Given the description of an element on the screen output the (x, y) to click on. 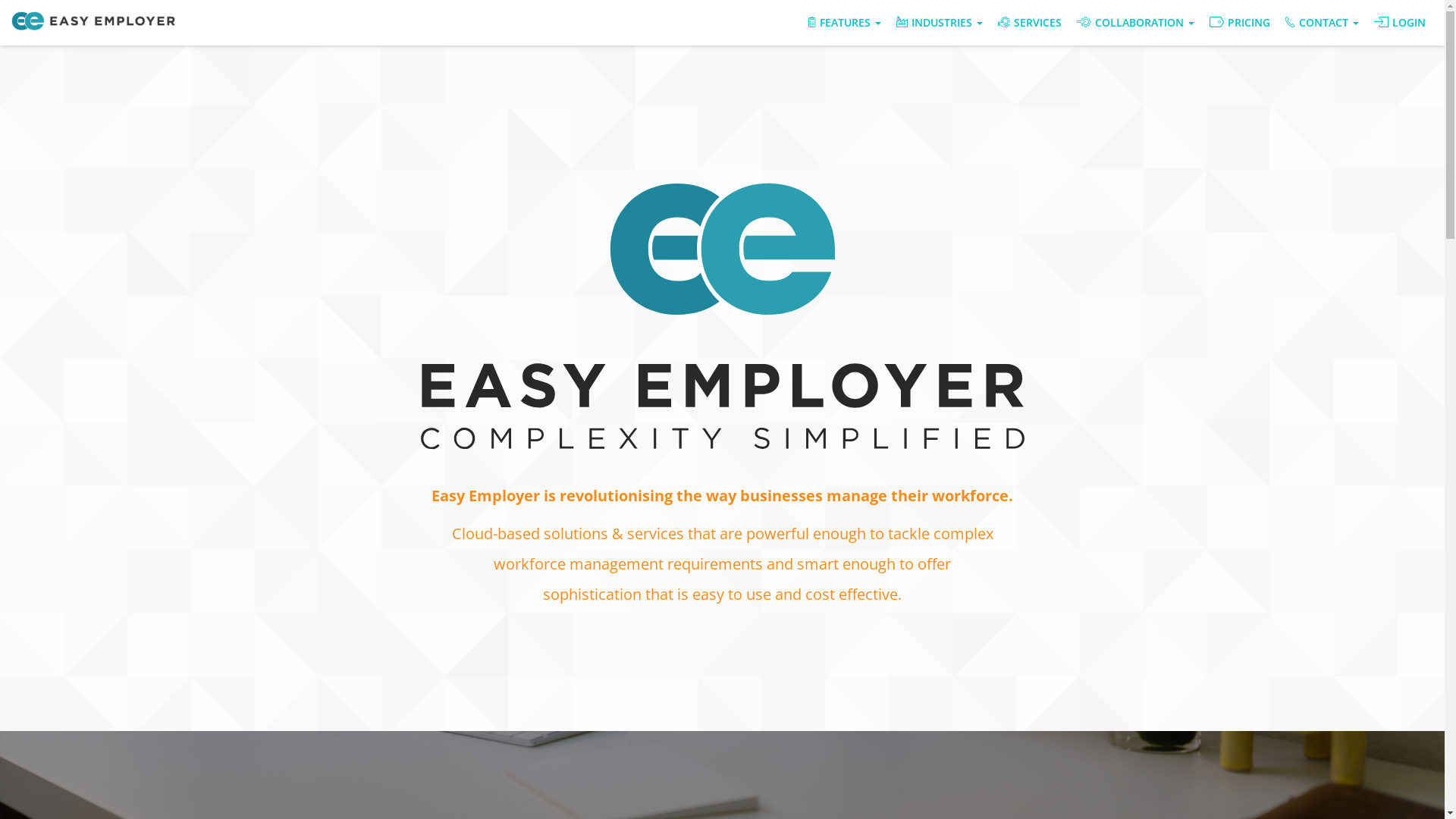
COLLABORATION Element type: text (1135, 22)
CONTACT Element type: text (1321, 22)
FEATURES Element type: text (844, 22)
SERVICES Element type: text (1029, 22)
LOGIN Element type: text (1399, 22)
PRICING Element type: text (1239, 22)
INDUSTRIES Element type: text (939, 22)
